Given the description of an element on the screen output the (x, y) to click on. 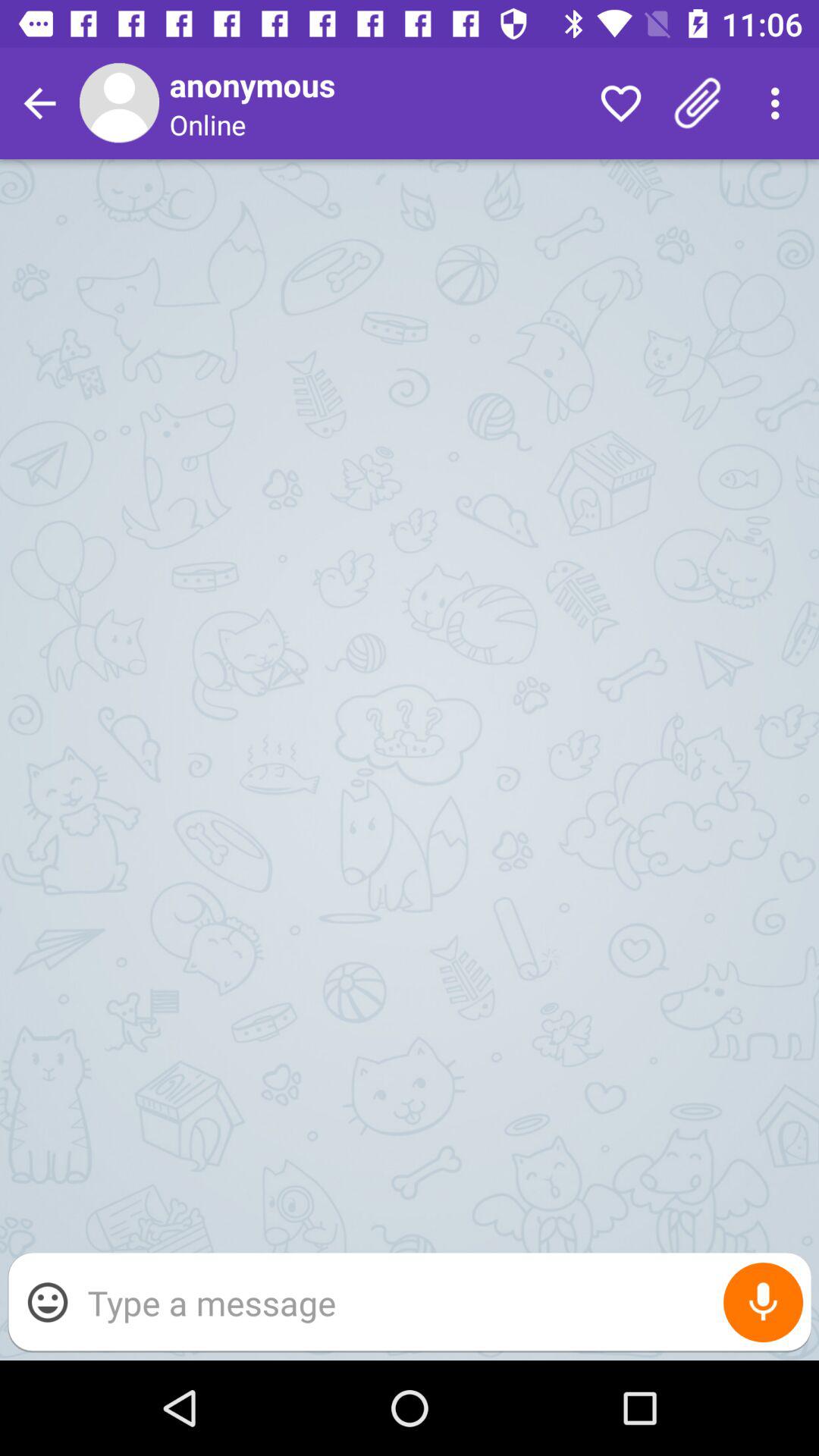
emoji keyboard display (47, 1302)
